Given the description of an element on the screen output the (x, y) to click on. 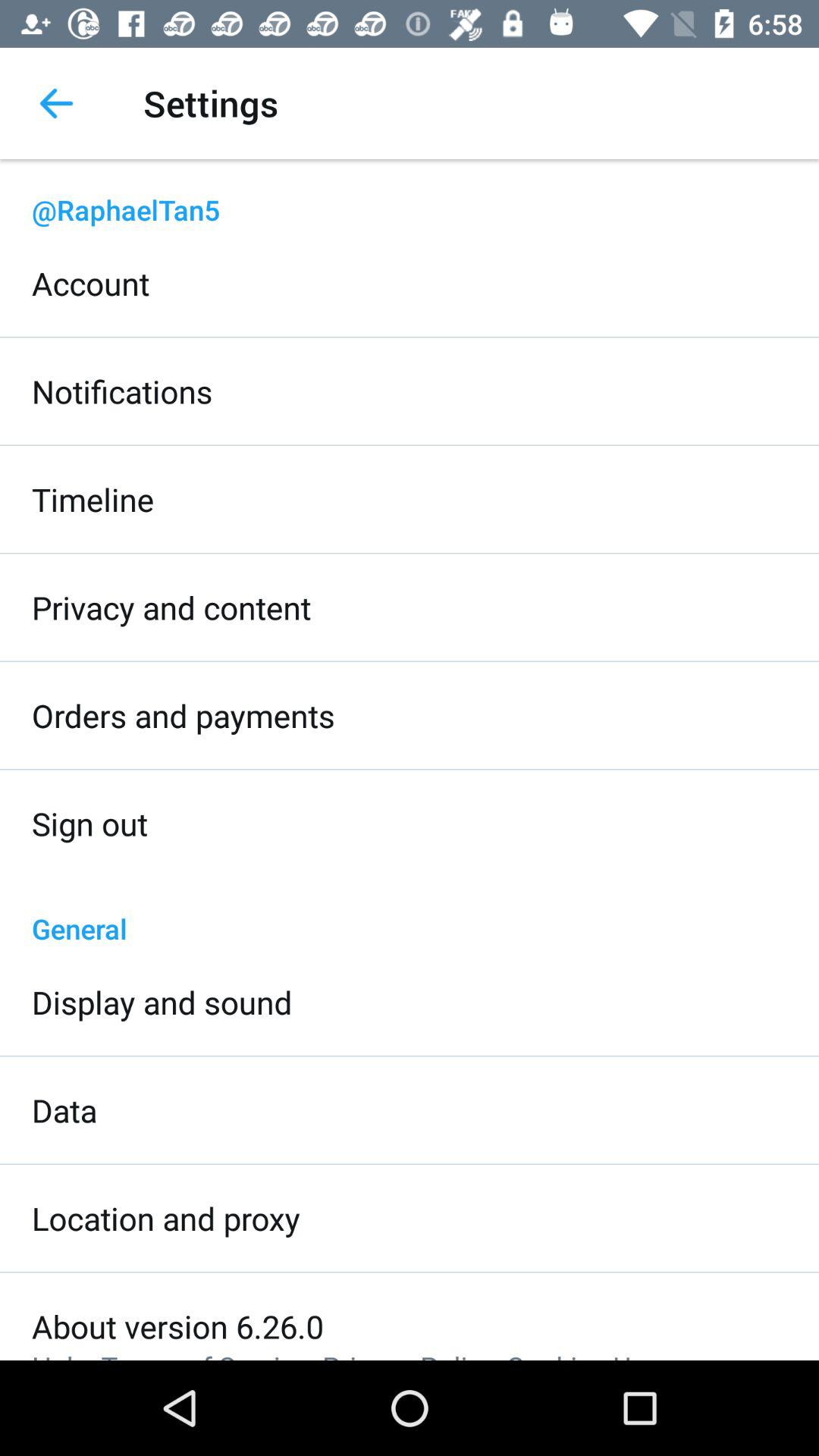
swipe until orders and payments (182, 715)
